Given the description of an element on the screen output the (x, y) to click on. 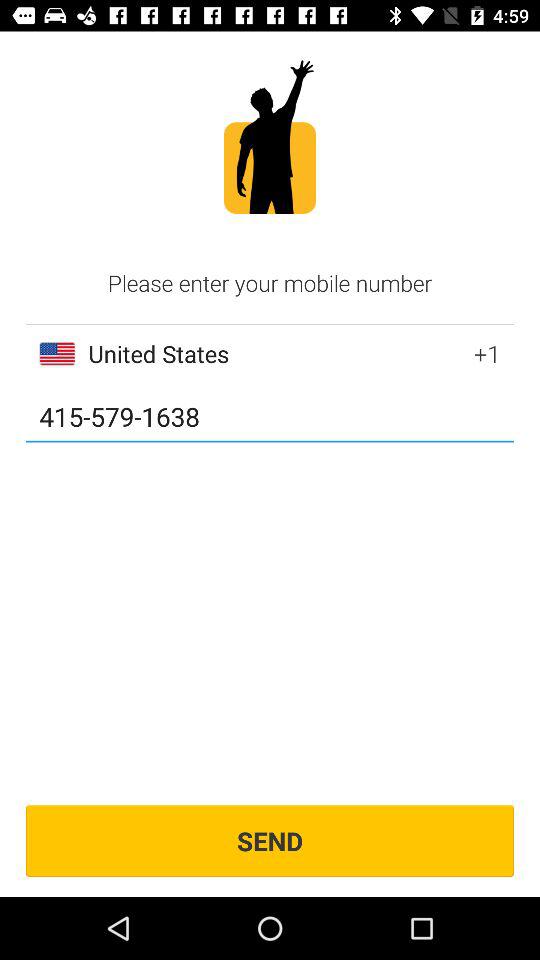
choose 415-579-1638 item (269, 418)
